Given the description of an element on the screen output the (x, y) to click on. 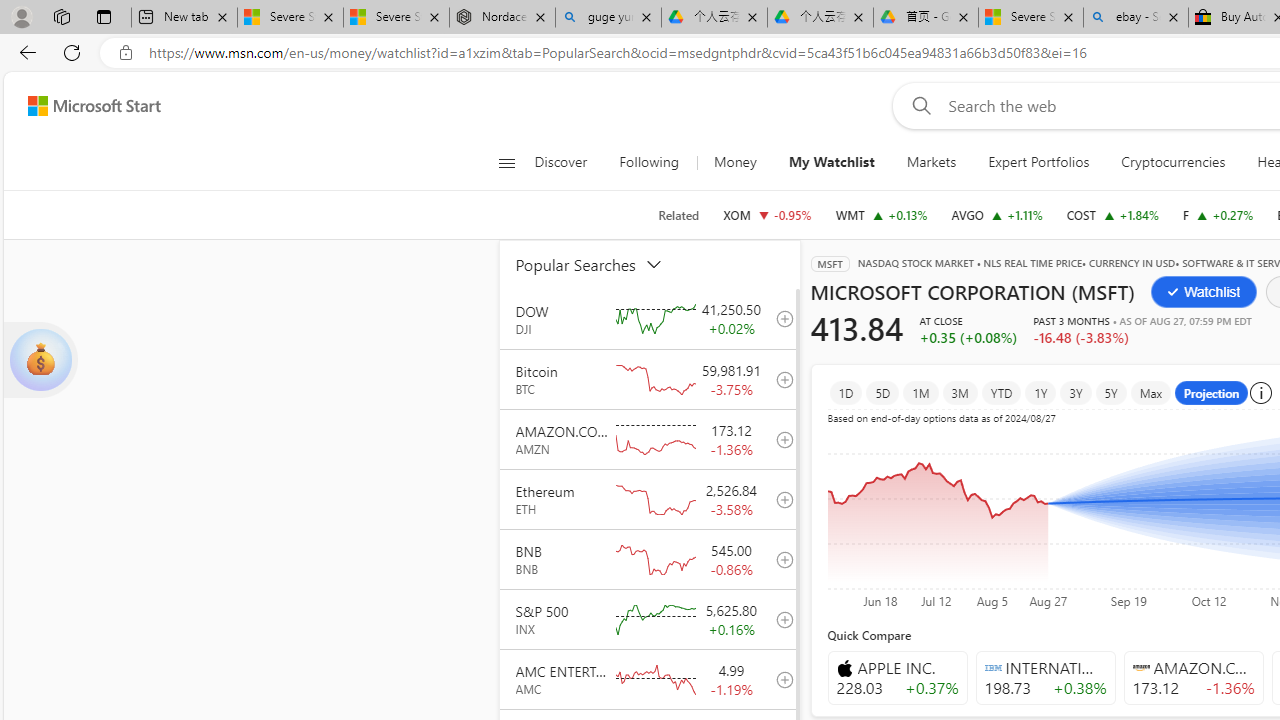
XOM EXXON MOBIL CORPORATION decrease 117.68 -1.13 -0.95% (767, 214)
add to your watchlist (779, 678)
show card (40, 359)
Cryptocurrencies (1173, 162)
YTD (1000, 392)
Skip to content (86, 105)
Projection (1212, 392)
Markets (930, 162)
